Given the description of an element on the screen output the (x, y) to click on. 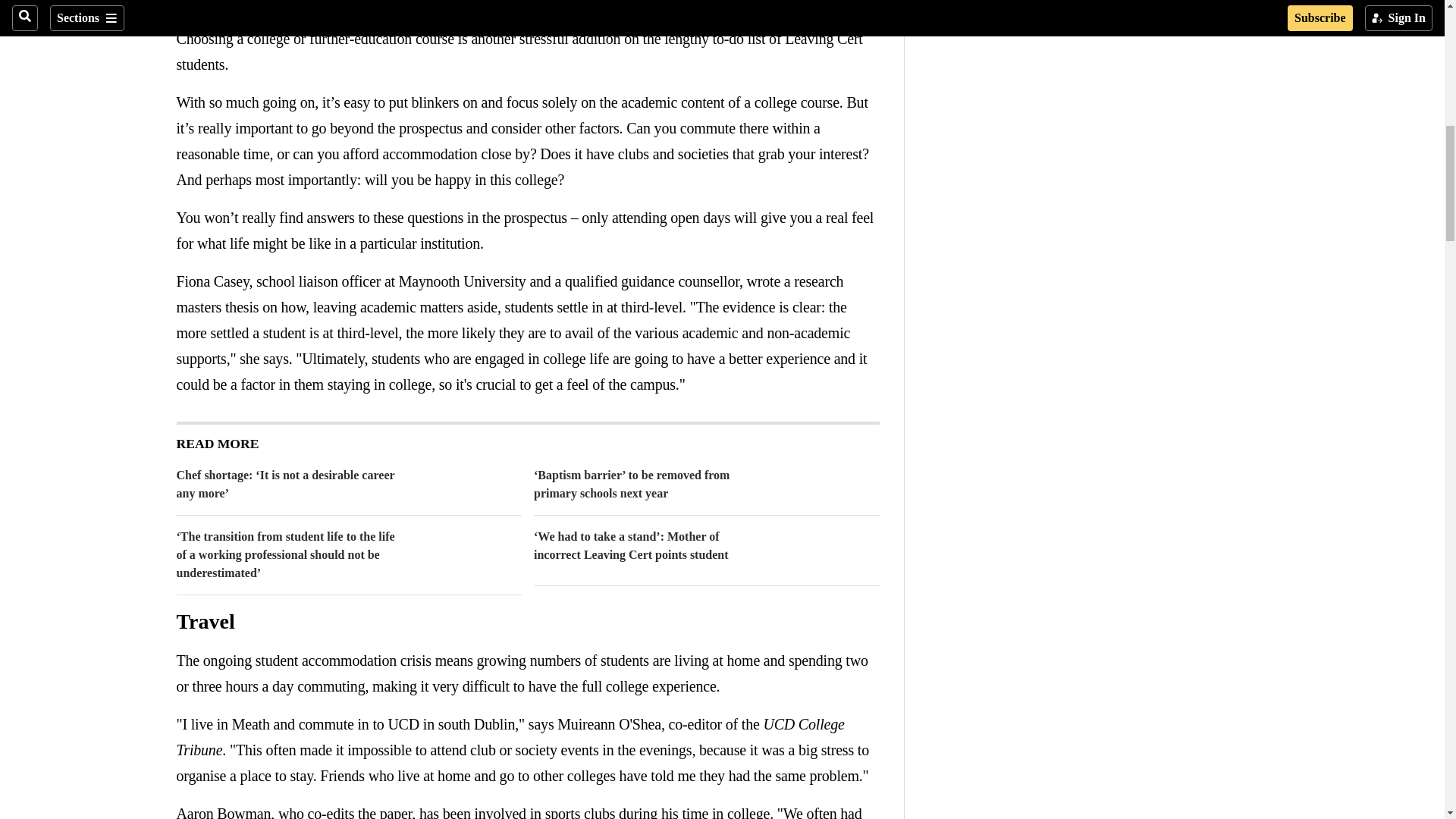
WhatsApp (244, 6)
X (215, 6)
Facebook (184, 6)
